Given the description of an element on the screen output the (x, y) to click on. 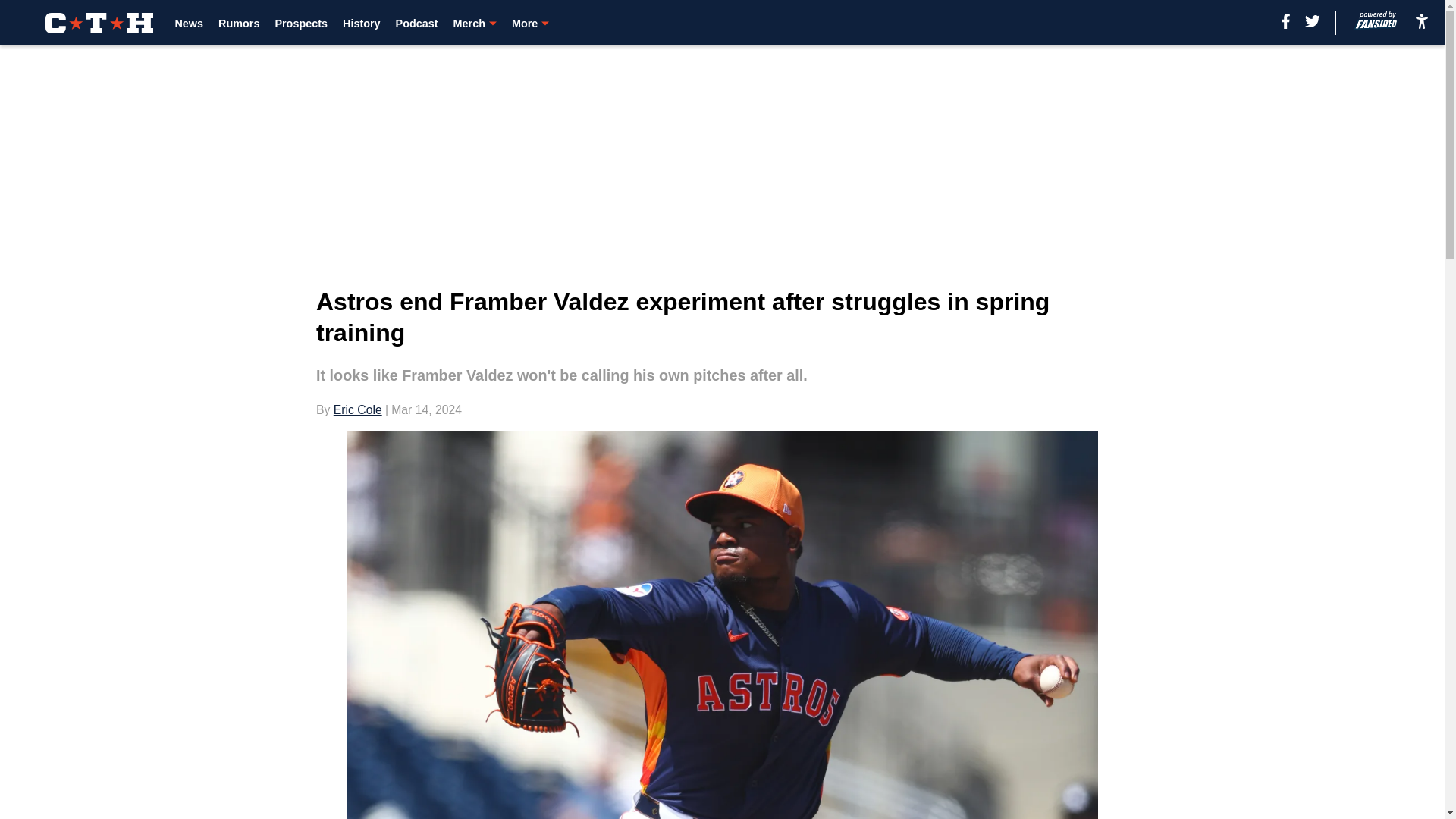
History (361, 23)
Rumors (238, 23)
Prospects (301, 23)
News (188, 23)
Podcast (417, 23)
Eric Cole (357, 409)
